Given the description of an element on the screen output the (x, y) to click on. 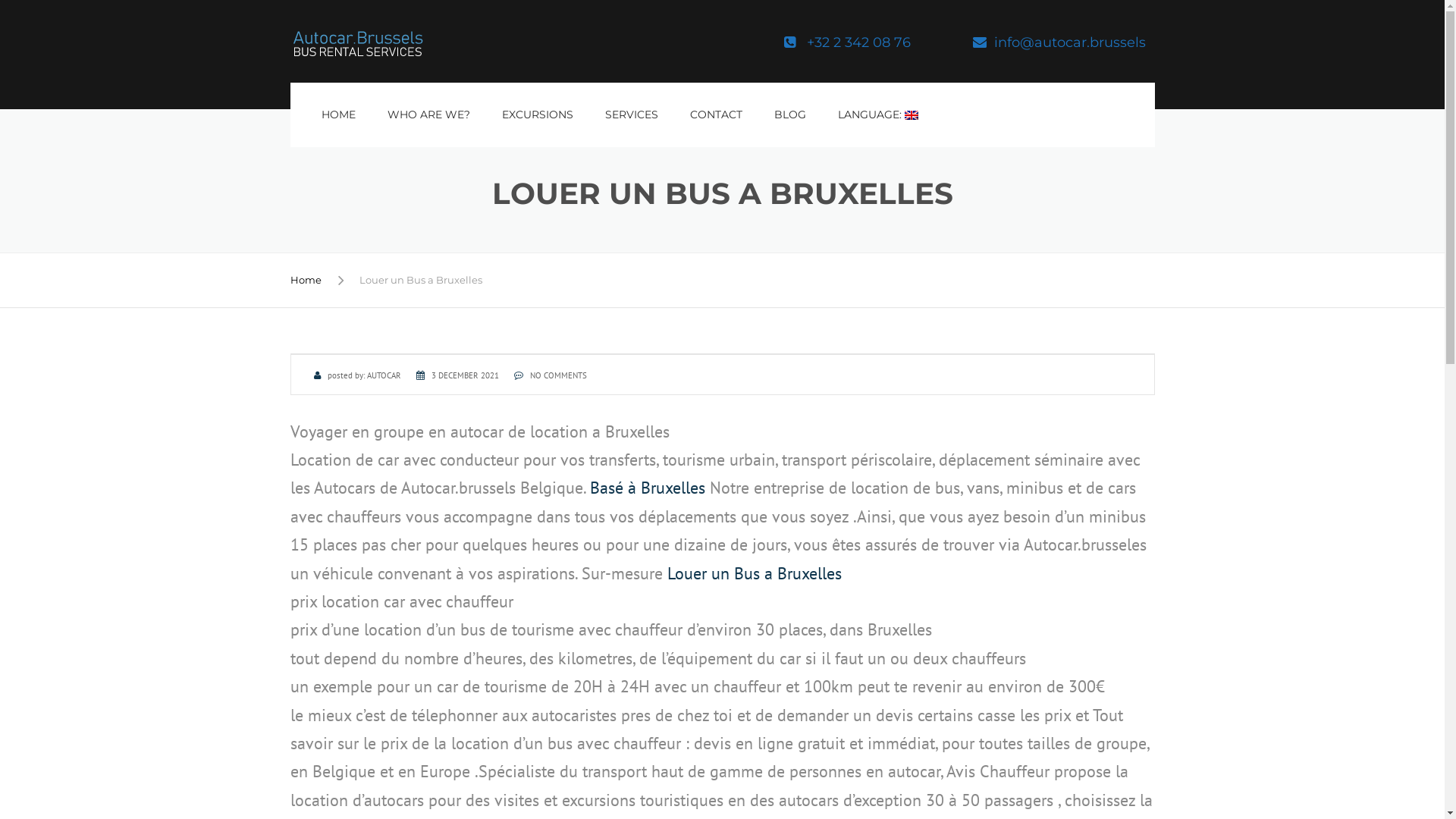
WHO ARE WE? Element type: text (428, 114)
SERVICES Element type: text (630, 114)
Louer un Bus a Bruxelles Element type: text (754, 572)
BLOG Element type: text (790, 114)
HOME Element type: text (337, 114)
LANGUAGE:  Element type: text (878, 114)
CONTACT Element type: text (715, 114)
Home Element type: text (304, 279)
EXCURSIONS Element type: text (536, 114)
